Given the description of an element on the screen output the (x, y) to click on. 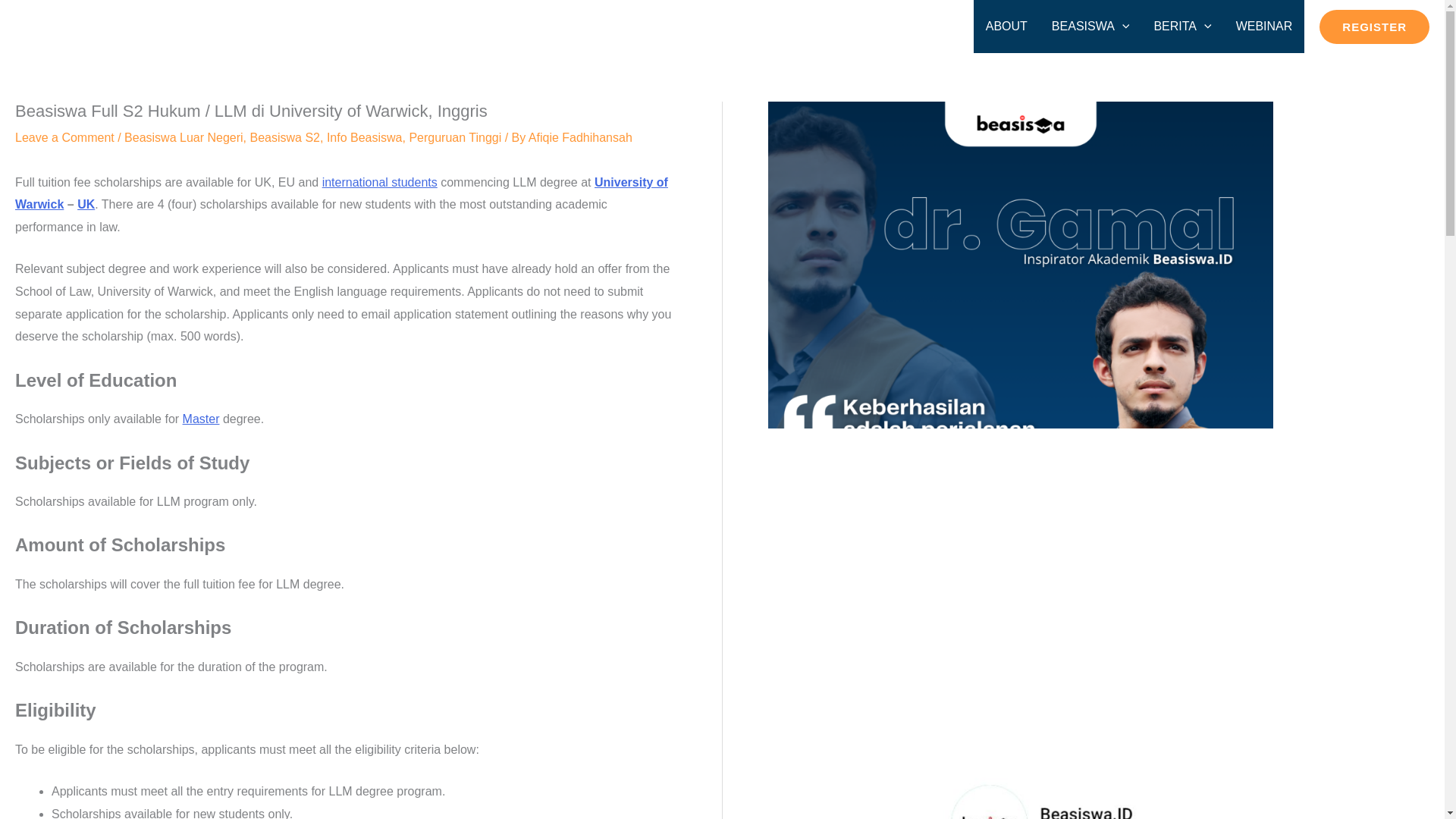
BERITA (1182, 26)
ABOUT (1006, 26)
BEASISWA (1090, 26)
WEBINAR (1264, 26)
REGISTER (1374, 26)
View all posts by Afiqie Fadhihansah (579, 137)
